Given the description of an element on the screen output the (x, y) to click on. 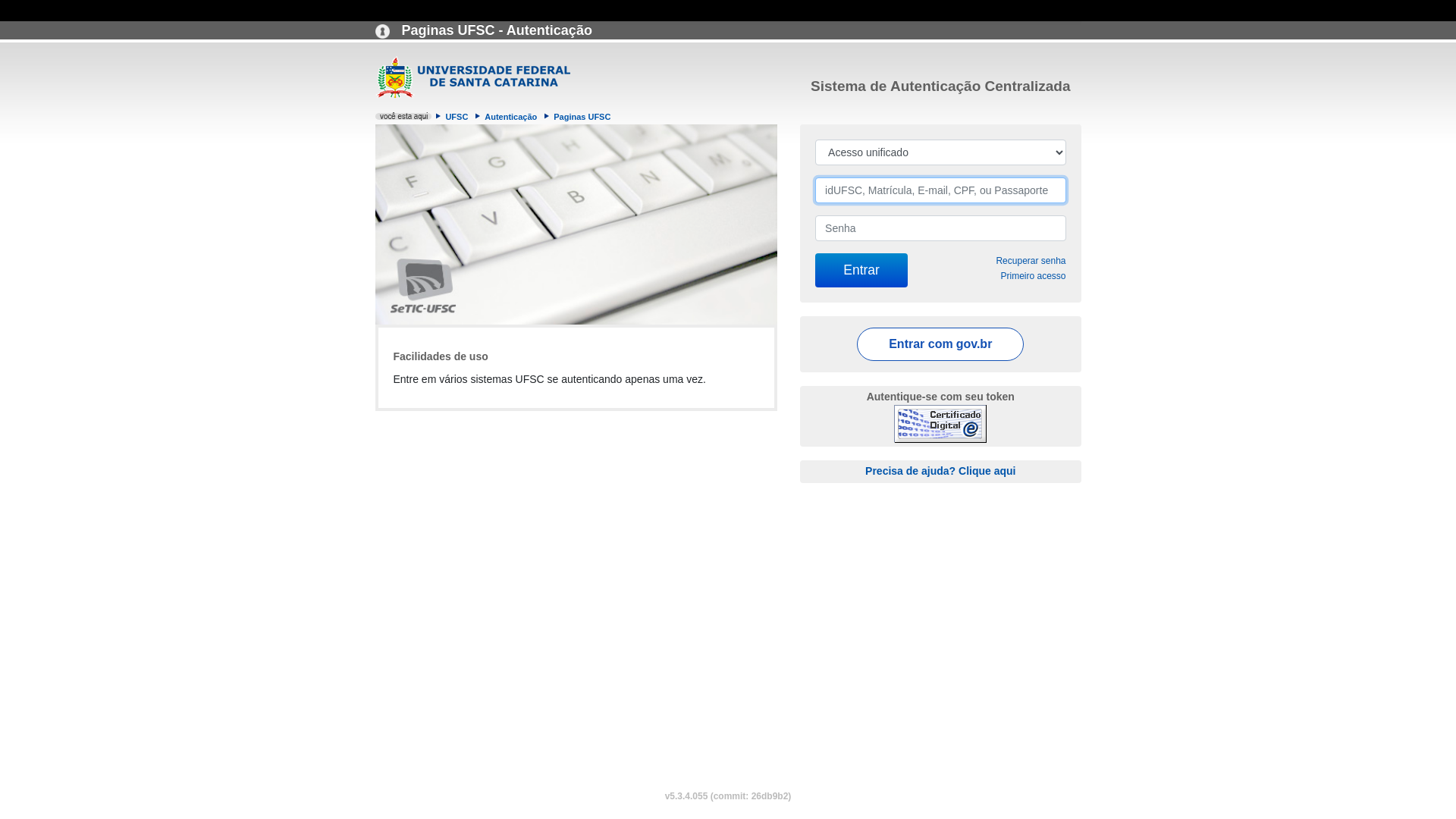
Entrar com
gov.br Element type: text (939, 343)
Precisa de ajuda? Clique aqui Element type: text (940, 470)
Recuperar senha Element type: text (1030, 260)
Paginas UFSC Element type: text (581, 116)
UFSC Element type: text (456, 116)
Primeiro acesso Element type: text (1032, 275)
Entrar Element type: text (861, 270)
